Given the description of an element on the screen output the (x, y) to click on. 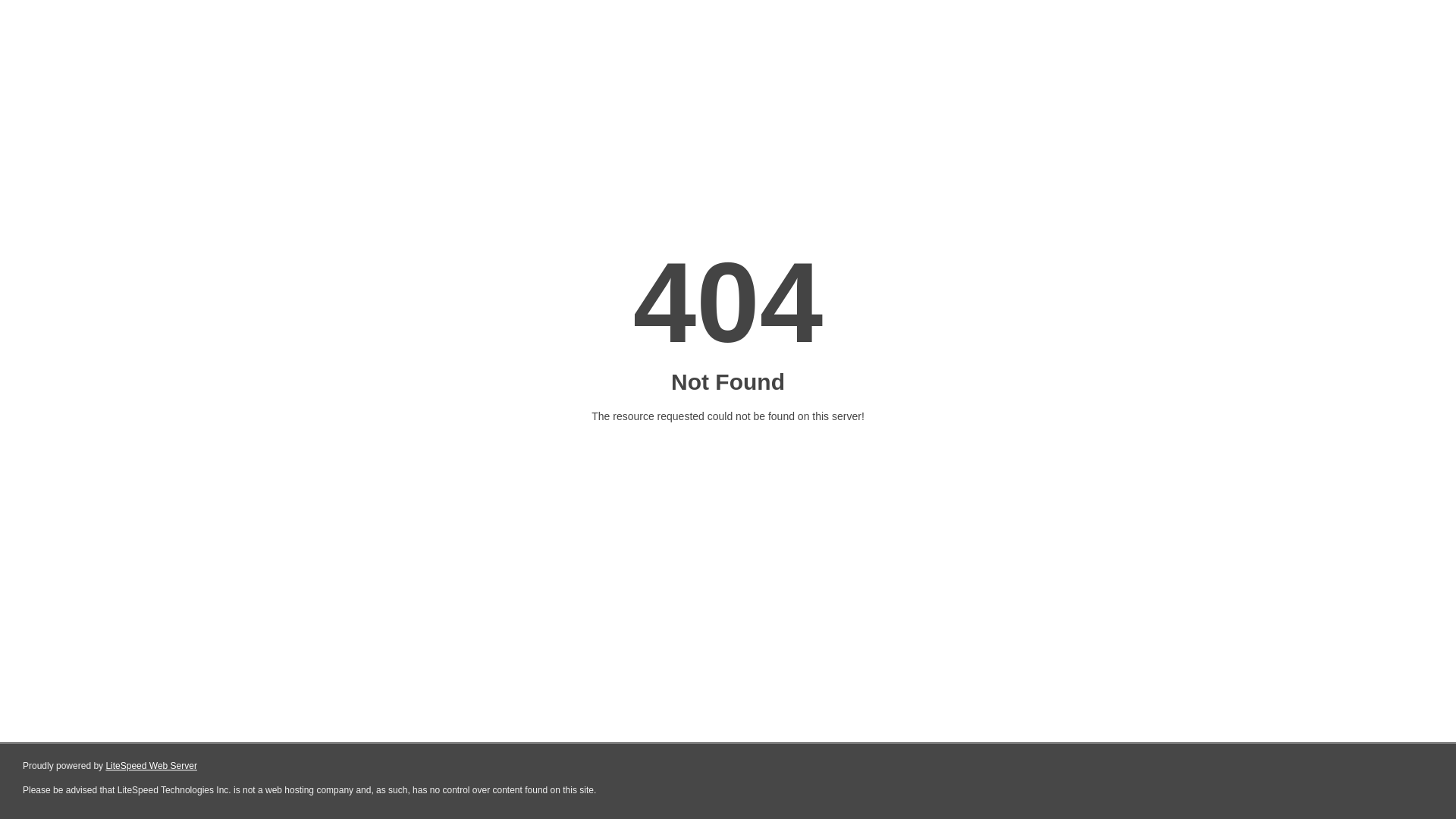
LiteSpeed Web Server Element type: text (151, 765)
